Given the description of an element on the screen output the (x, y) to click on. 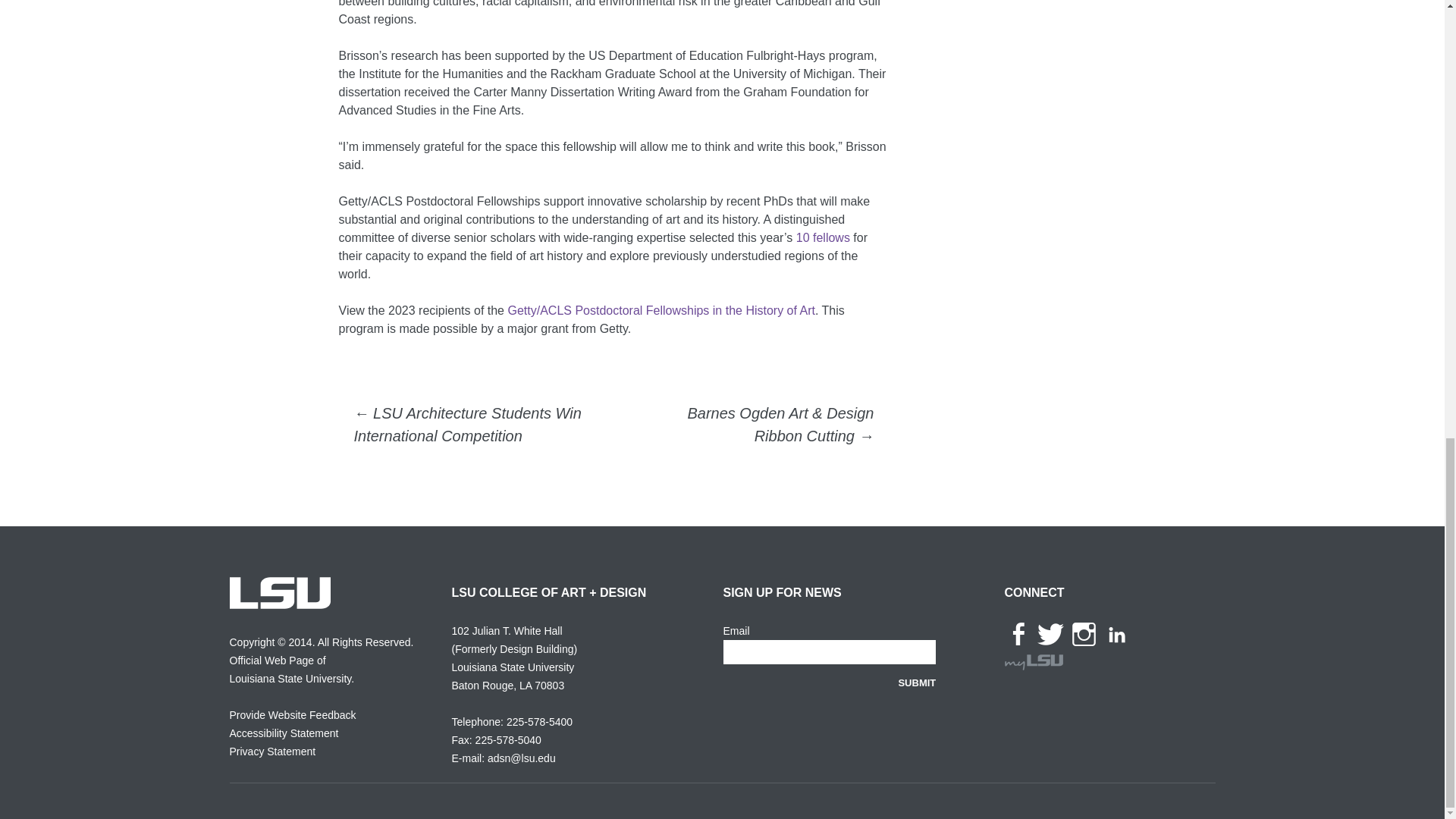
Submit (917, 682)
